Given the description of an element on the screen output the (x, y) to click on. 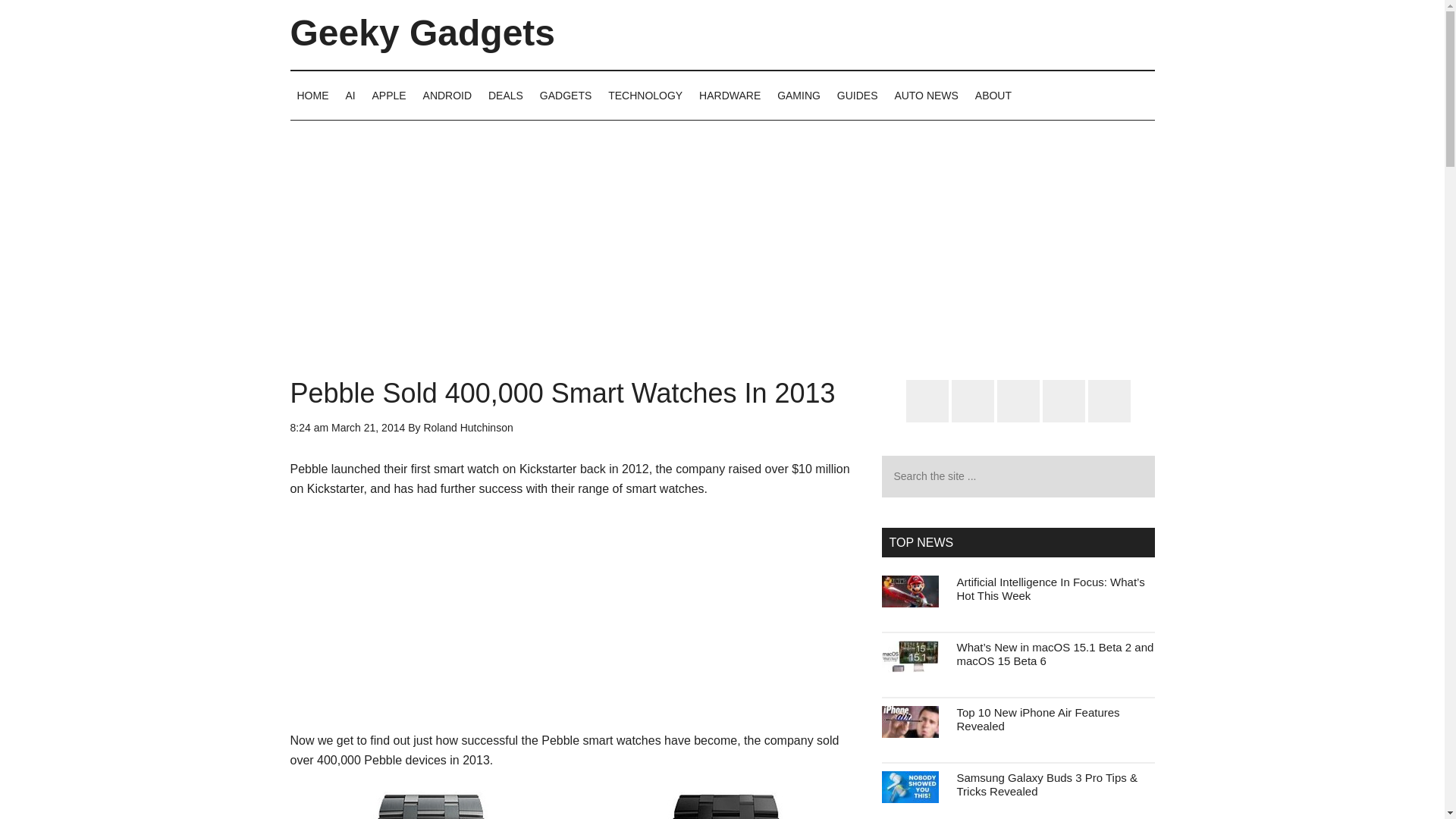
TECHNOLOGY (644, 95)
GADGETS (565, 95)
Roland Hutchinson (467, 427)
HARDWARE (730, 95)
Top 10 New iPhone Air Features Revealed (1037, 718)
APPLE (389, 95)
DEALS (505, 95)
HOME (311, 95)
